Given the description of an element on the screen output the (x, y) to click on. 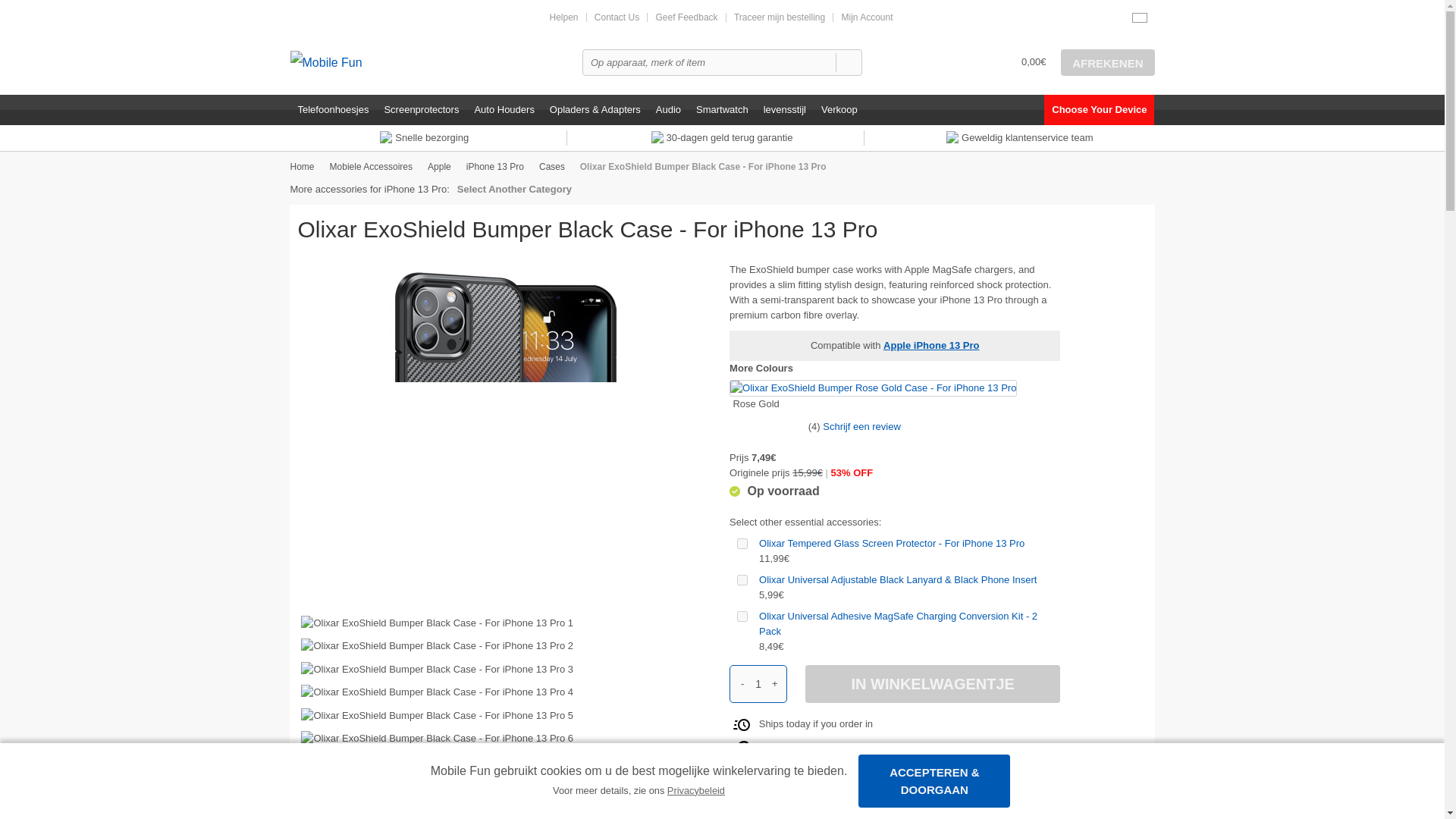
Apple iPhone 13 Pro Accessoires (494, 166)
Telefoonhoesjes (332, 110)
Olixar ExoShield Bumper Black Case - For iPhone 13 Pro (505, 425)
98195 (742, 543)
Mobile Fun (367, 61)
Traceer mijn bestelling (779, 17)
Mobiele Accessoires (371, 166)
Apple iPhone 13 Pro Cases (551, 166)
Mijn Account (866, 17)
Aantal (758, 683)
